Given the description of an element on the screen output the (x, y) to click on. 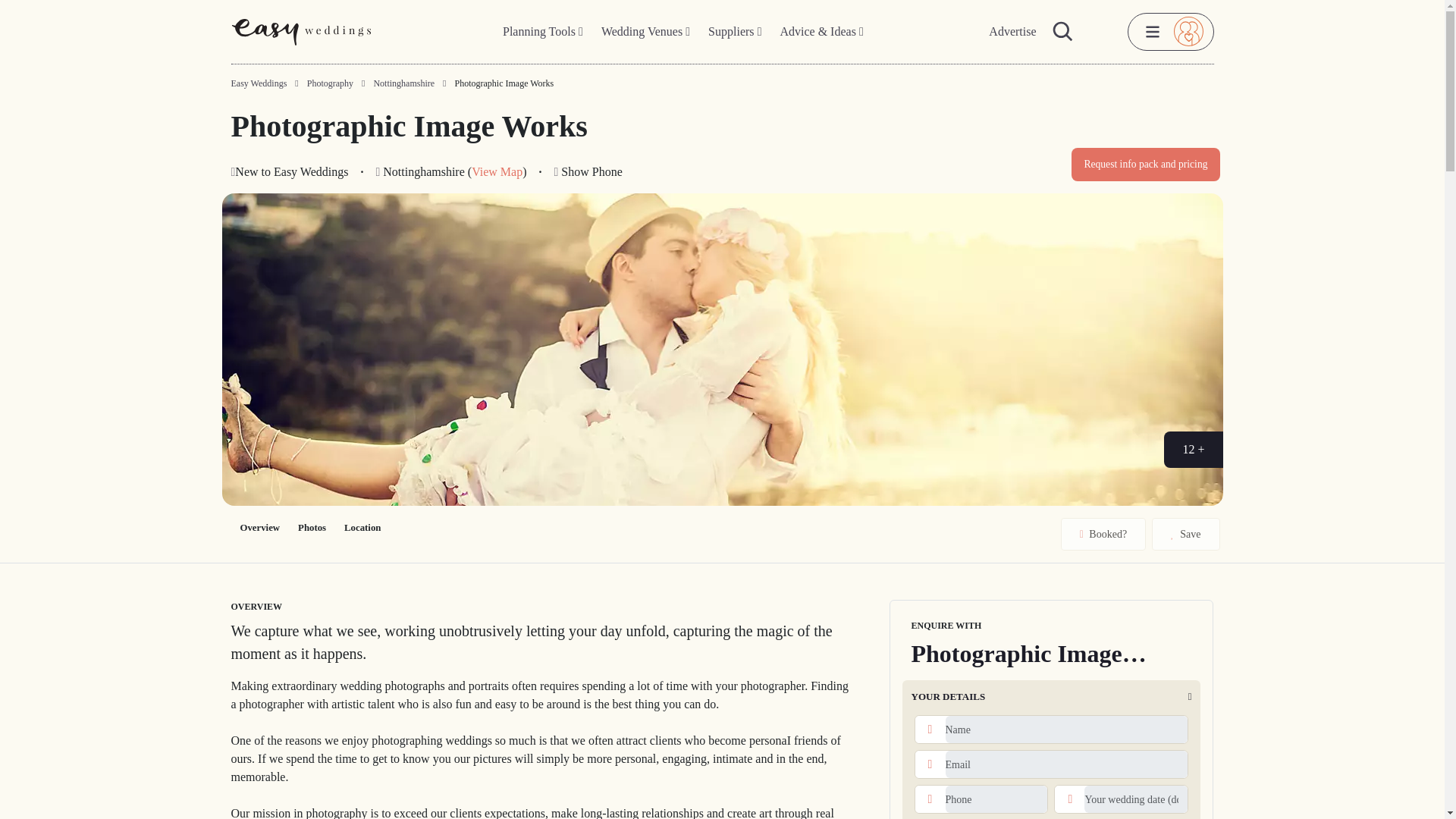
Overview (259, 528)
Request info pack and pricing (1145, 164)
Planning Tools (542, 31)
View Map (496, 171)
Location (362, 528)
Save (1185, 533)
Photos (311, 528)
YOUR DETAILS (1051, 701)
Advertise (1012, 31)
Suppliers (734, 31)
Nottinghamshire (402, 82)
Booked? (1103, 533)
Photography (330, 83)
Wedding Venues (645, 31)
Easy Weddings (258, 83)
